Given the description of an element on the screen output the (x, y) to click on. 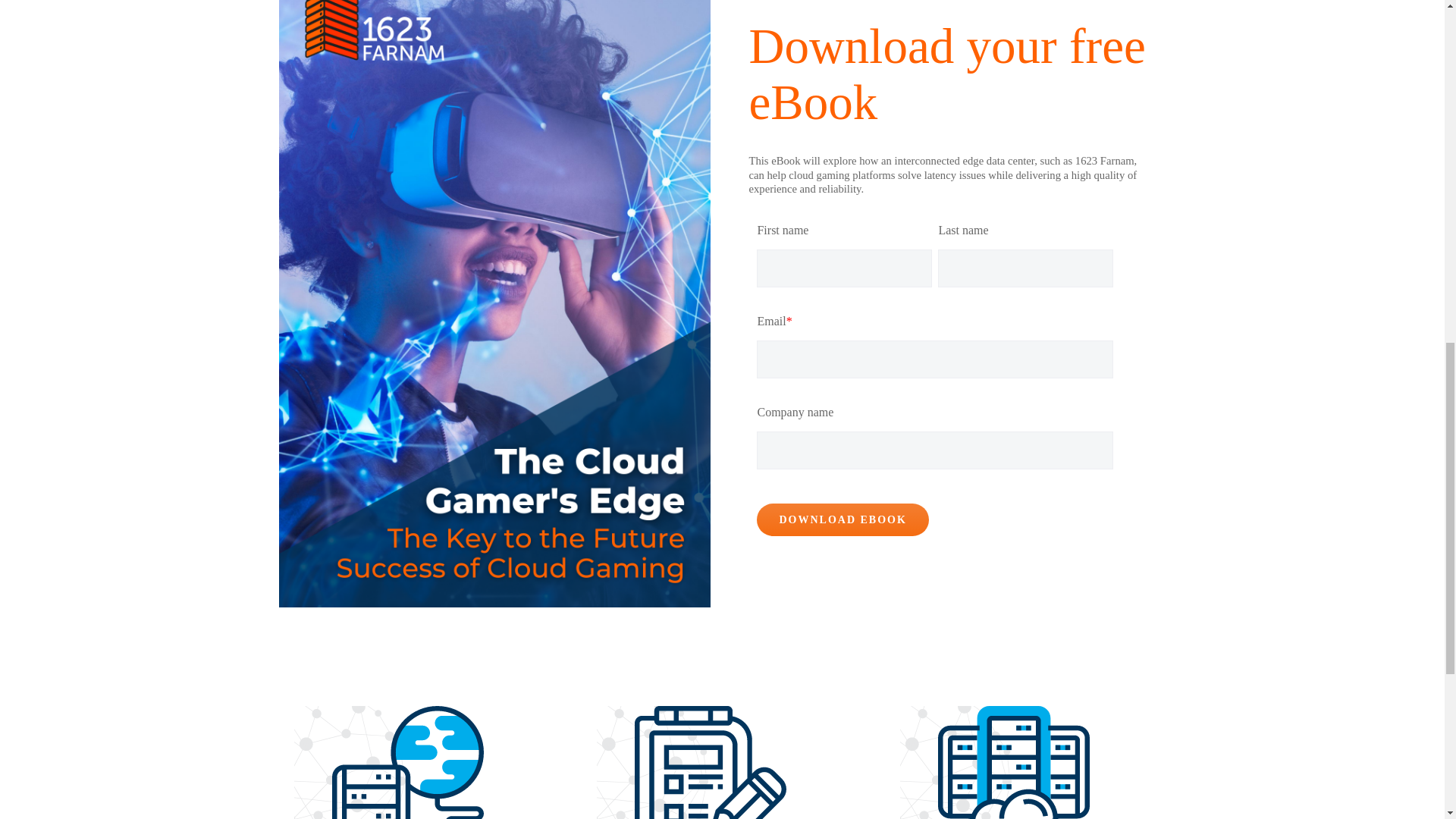
Download eBook (842, 519)
Connectivity-2 (407, 762)
Compliance-2 (710, 762)
Download eBook (842, 519)
BestInClass-2 (1012, 762)
